Given the description of an element on the screen output the (x, y) to click on. 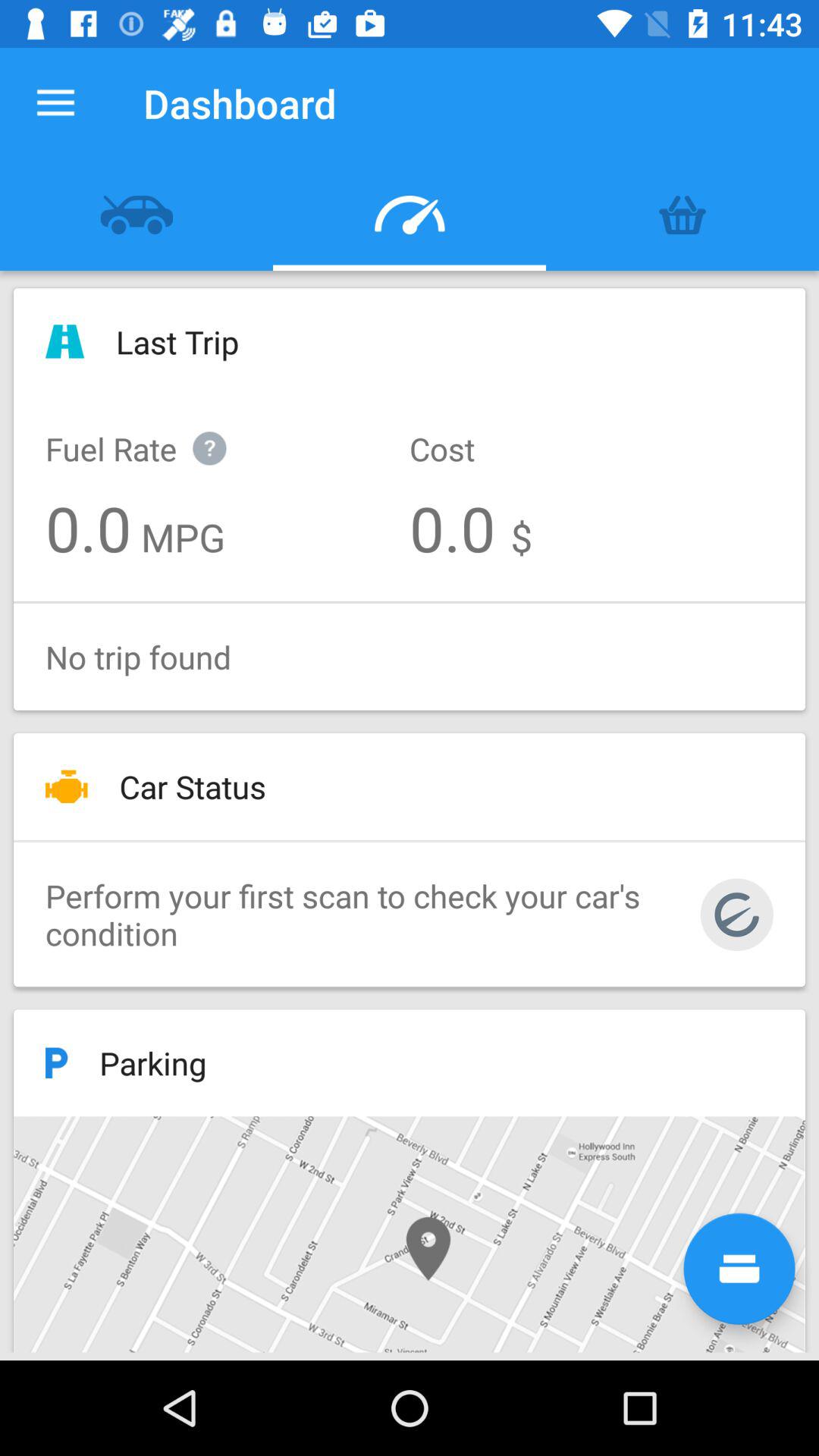
tap the item to the left of the dashboard icon (55, 103)
